Given the description of an element on the screen output the (x, y) to click on. 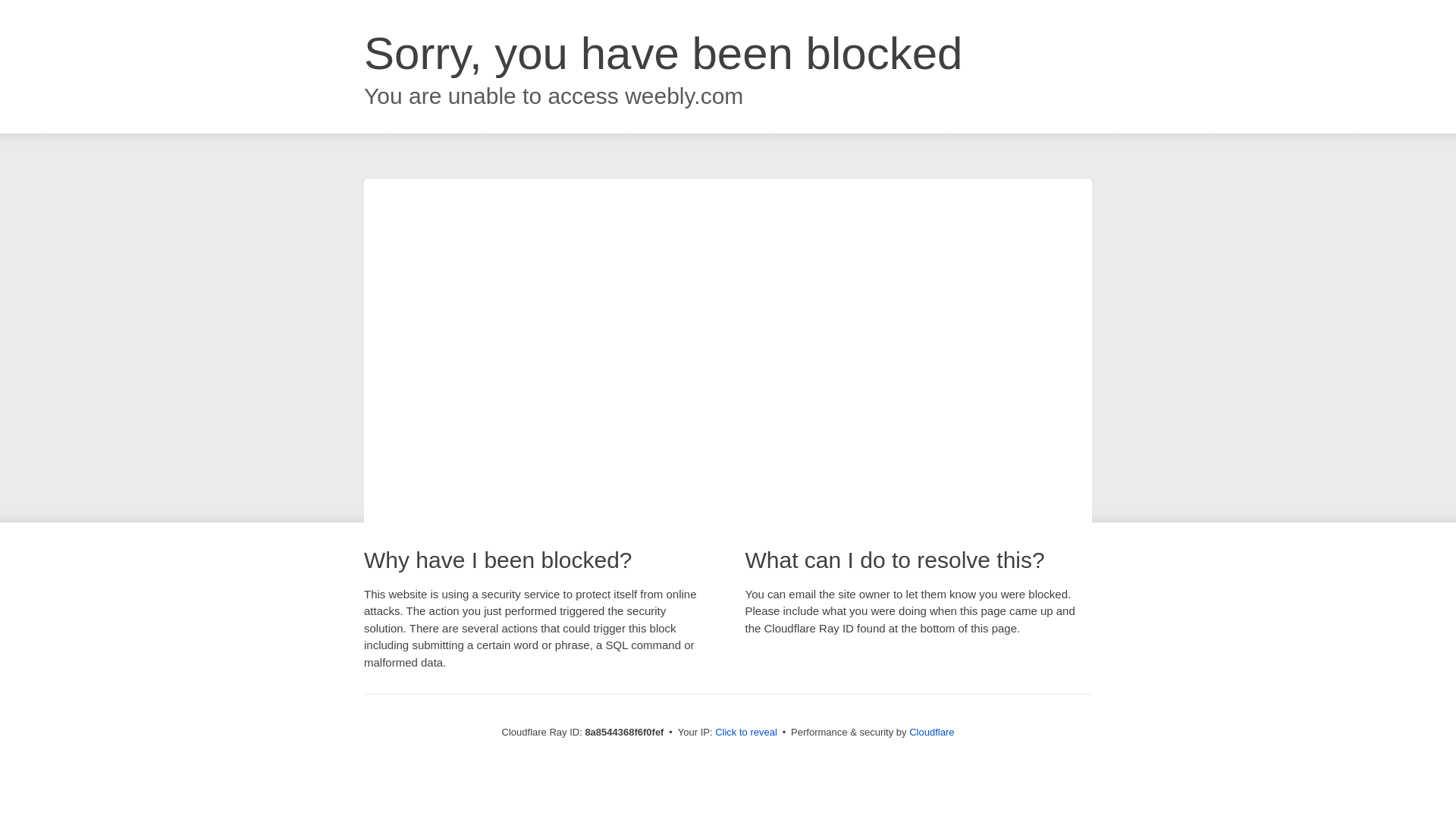
Cloudflare (930, 731)
Click to reveal (745, 732)
